Given the description of an element on the screen output the (x, y) to click on. 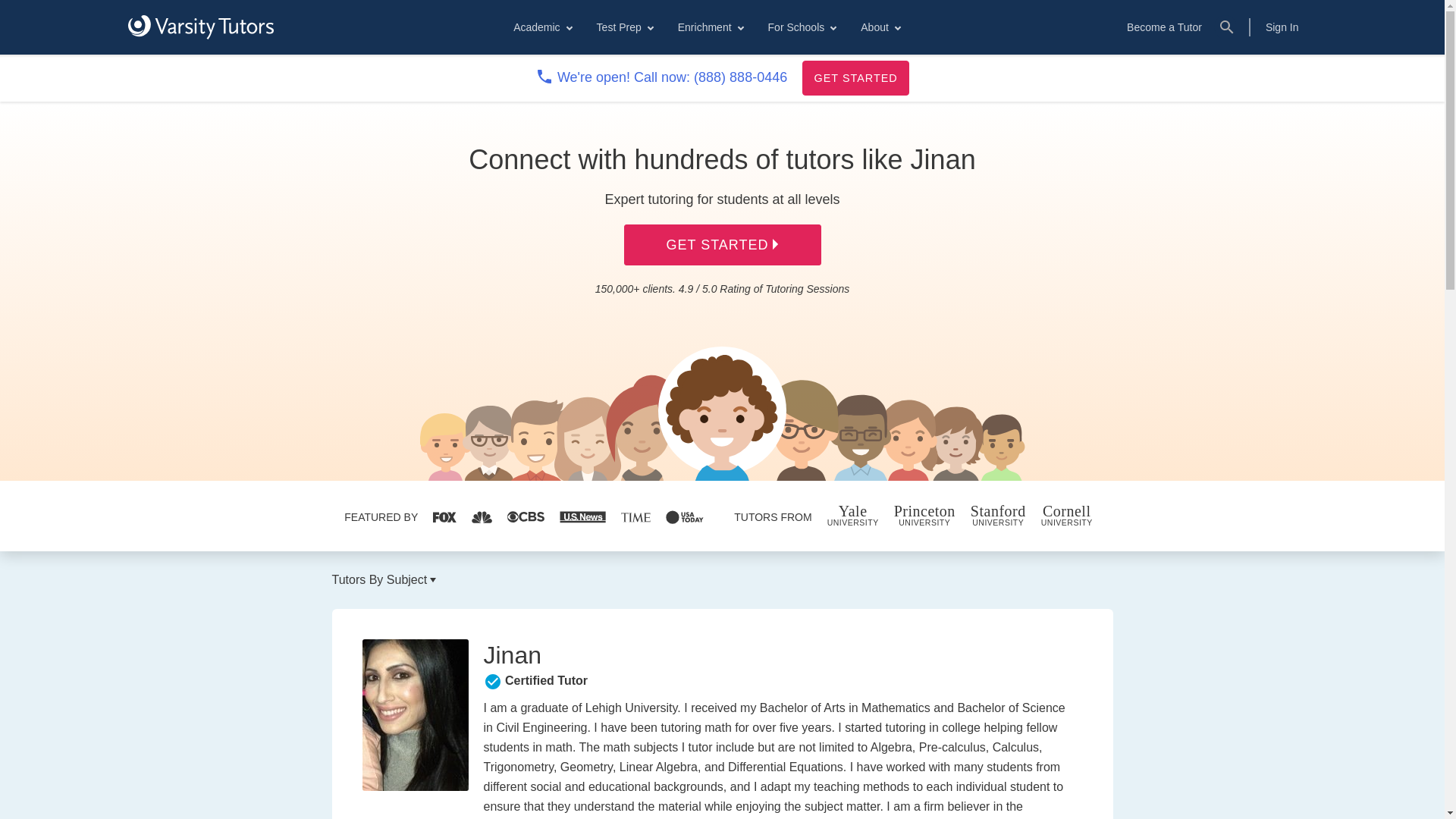
Varsity Tutors (200, 27)
Varsity Tutors (200, 26)
GET STARTED (855, 77)
Academic (541, 27)
